Given the description of an element on the screen output the (x, y) to click on. 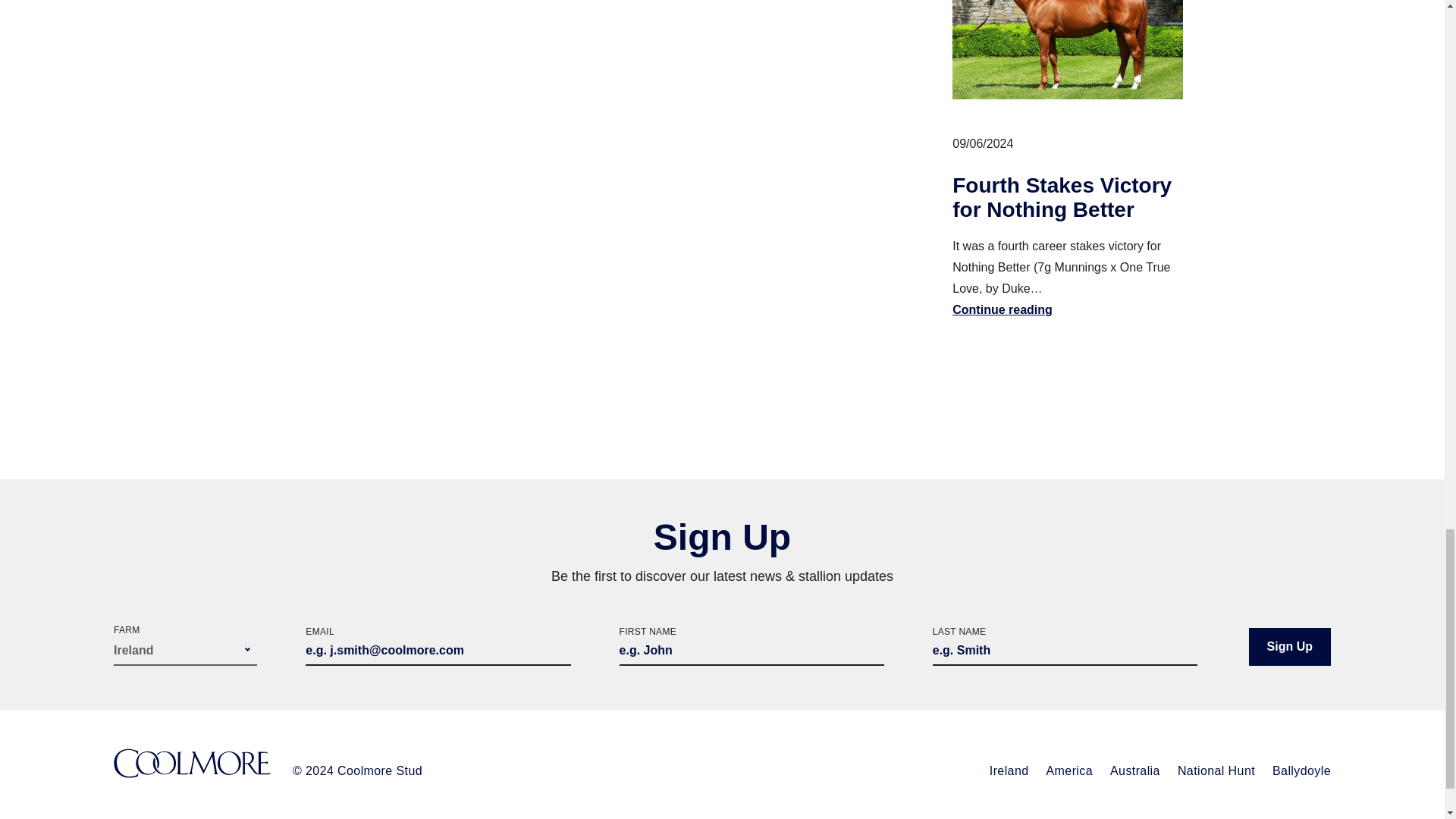
National Hunt (1216, 770)
Ireland (1009, 770)
Ballydoyle (1301, 770)
Coolmore (191, 764)
America (1069, 770)
Australia (1134, 770)
Sign Up (1289, 646)
